Given the description of an element on the screen output the (x, y) to click on. 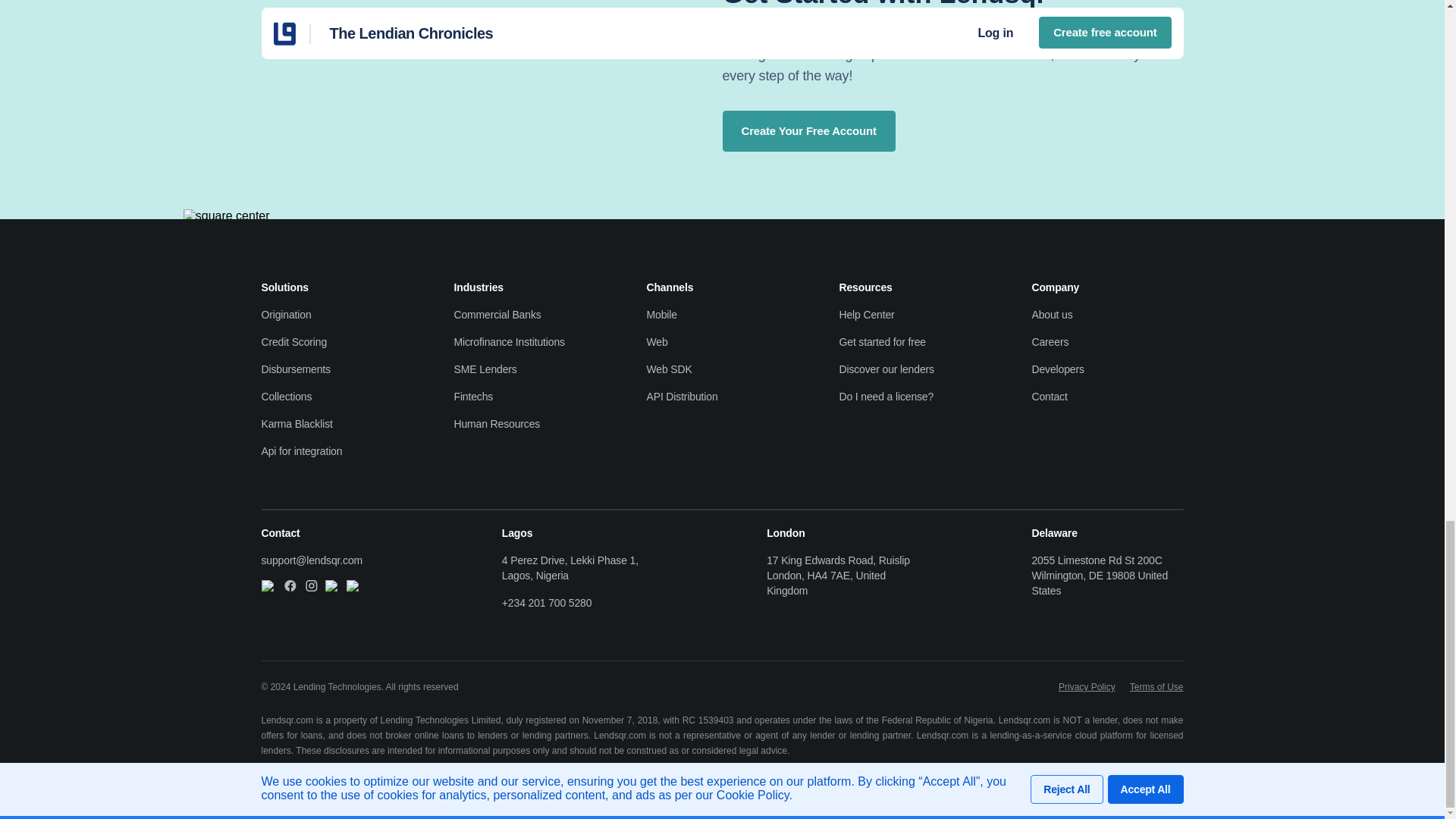
Api for integration (336, 450)
Credit Scoring (336, 341)
Origination (336, 314)
Create Your Free Account (808, 130)
Karma Blacklist (336, 423)
Disbursements (336, 368)
Create Your Free Account (808, 130)
Microfinance Institutions (528, 341)
Collections (336, 396)
Commercial Banks (528, 314)
